Given the description of an element on the screen output the (x, y) to click on. 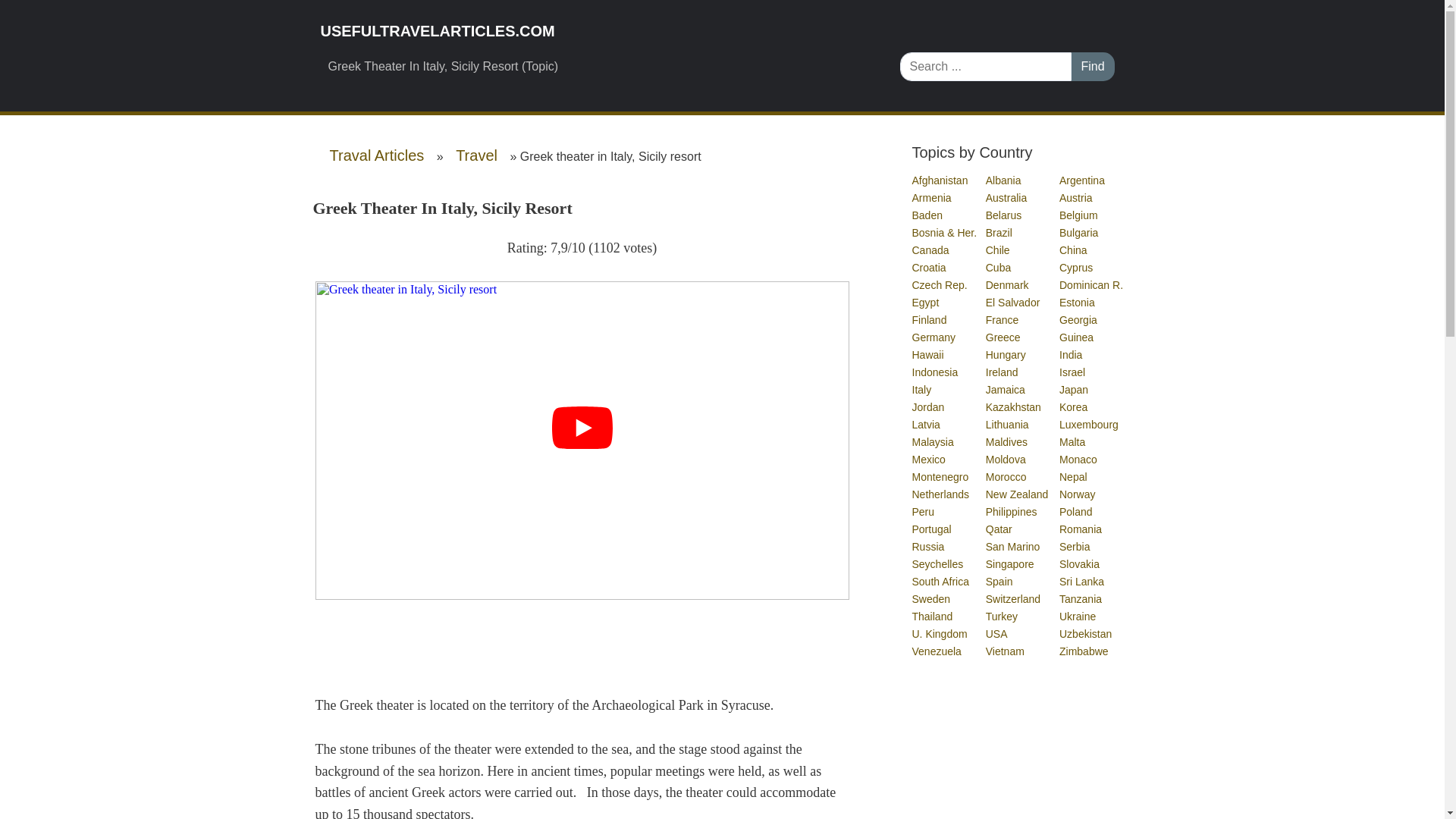
Bulgaria (1079, 232)
Find (1091, 66)
El Salvador (1013, 302)
Belarus (1004, 215)
France (1002, 319)
Afghanistan (940, 180)
USEFULTRAVELARTICLES.COM (598, 31)
Traval Articles (376, 155)
Albania (1004, 180)
Baden (927, 215)
